Given the description of an element on the screen output the (x, y) to click on. 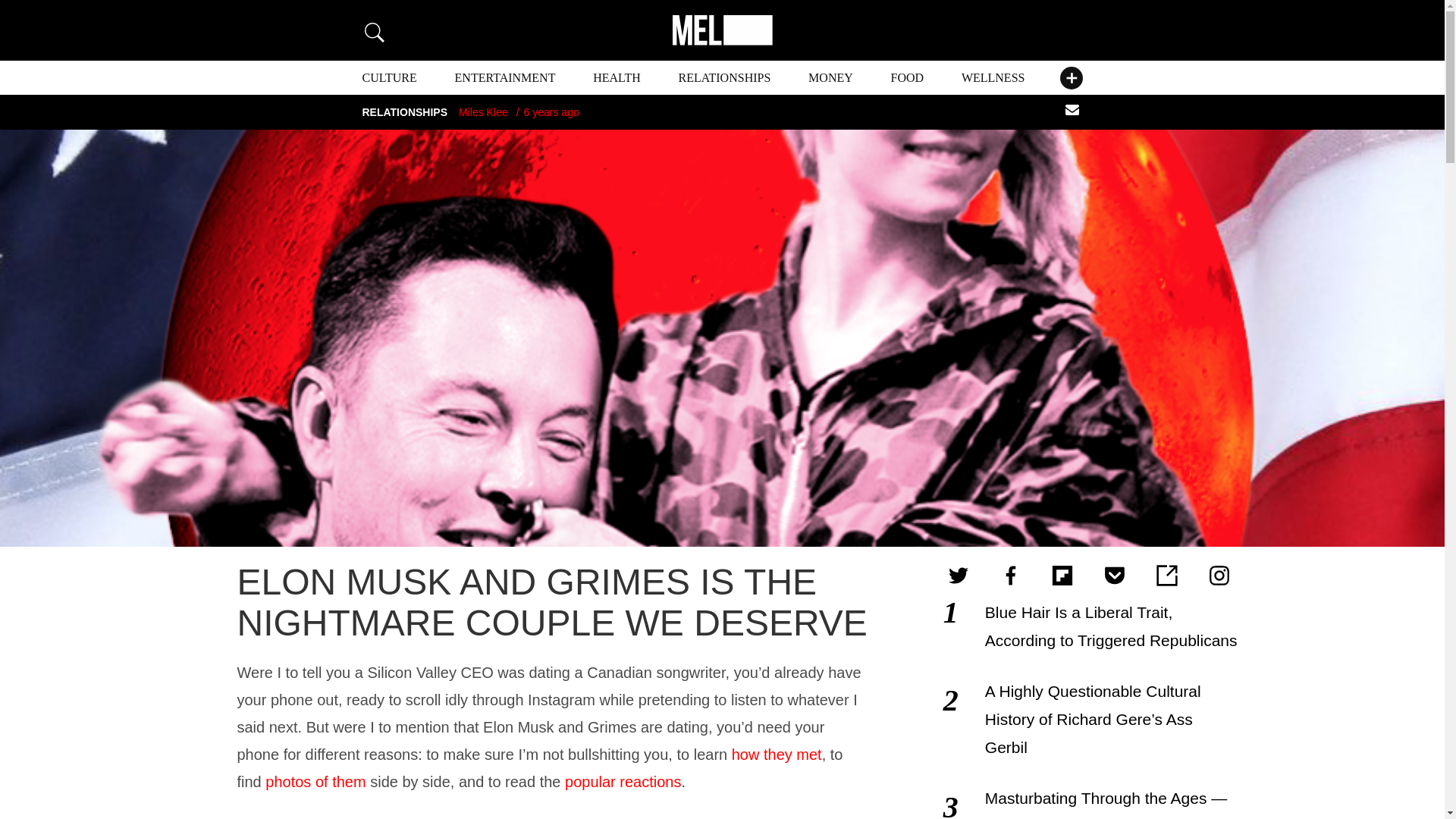
WELLNESS (992, 77)
Pocket (1114, 575)
HEALTH (616, 77)
FOOD (907, 77)
MEL Magazine (721, 30)
Instagram (1219, 575)
Posts by Miles Klee (483, 111)
RELATIONSHIPS (724, 77)
ENTERTAINMENT (505, 77)
Twitter (958, 575)
